Given the description of an element on the screen output the (x, y) to click on. 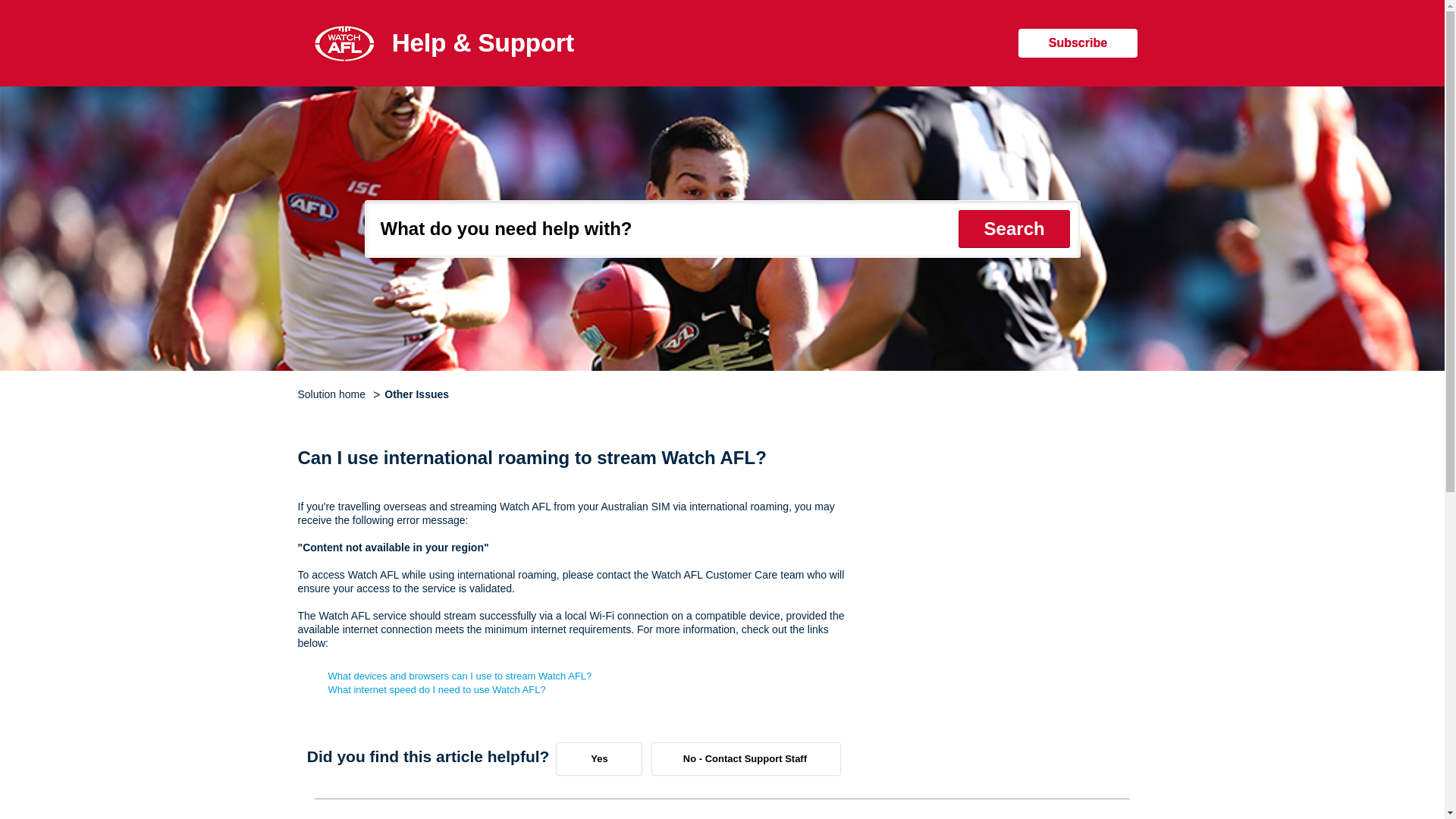
What internet speed do I need to use Watch AFL? (435, 689)
Subscribe (1077, 42)
What devices and browsers can I use to stream Watch AFL? (459, 675)
Other Issues (410, 394)
Search (1014, 228)
Solution home (332, 394)
